Given the description of an element on the screen output the (x, y) to click on. 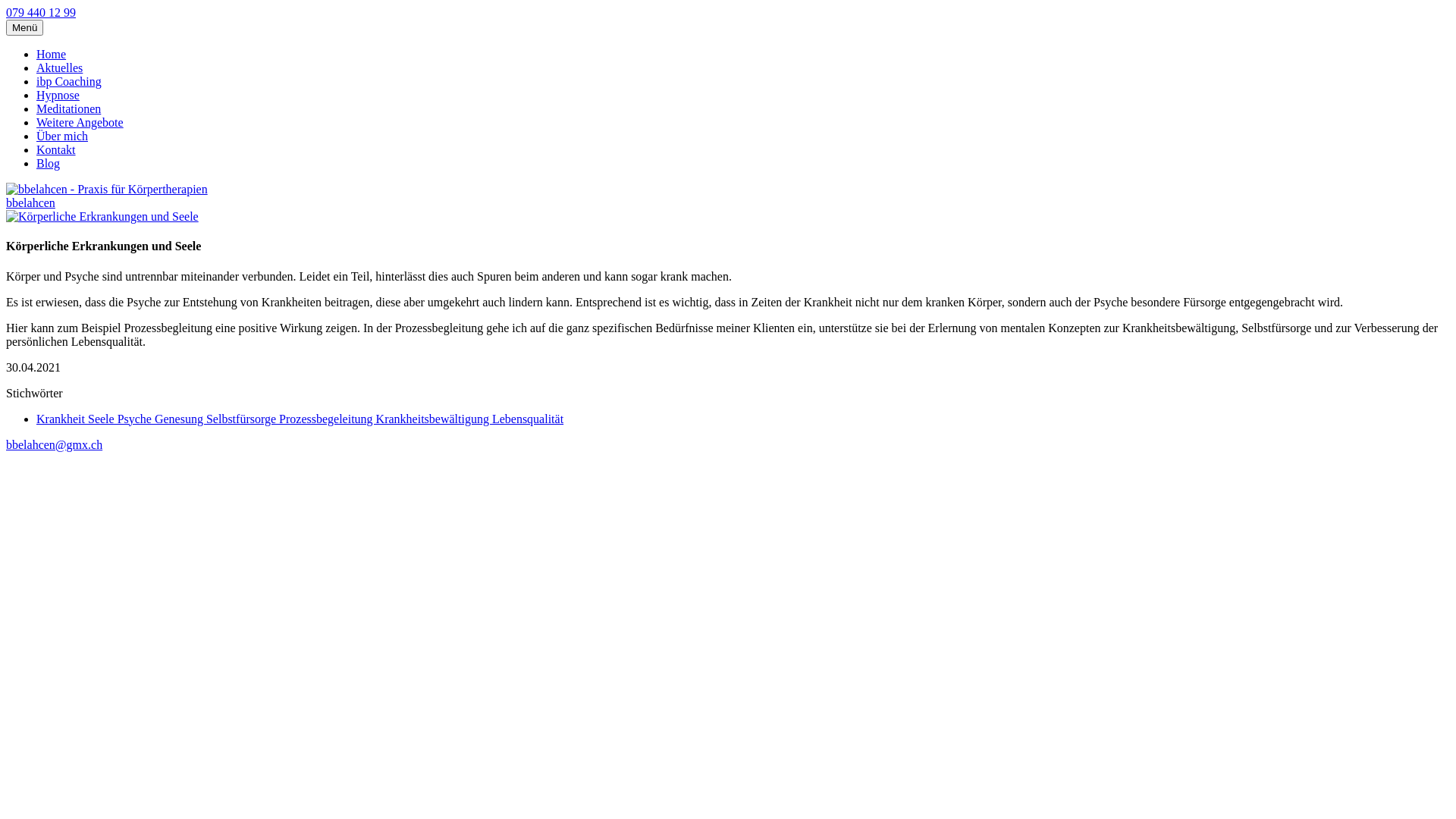
Meditationen Element type: text (68, 108)
Home Element type: text (50, 53)
Hypnose Element type: text (57, 94)
079 440 12 99 Element type: text (40, 12)
bbelahcen Element type: text (30, 202)
ibp Coaching Element type: text (68, 81)
Kontakt Element type: text (55, 149)
bbelahcen@gmx.ch Element type: text (54, 444)
Weitere Angebote Element type: text (79, 122)
Aktuelles Element type: text (59, 67)
Blog Element type: text (47, 162)
